Given the description of an element on the screen output the (x, y) to click on. 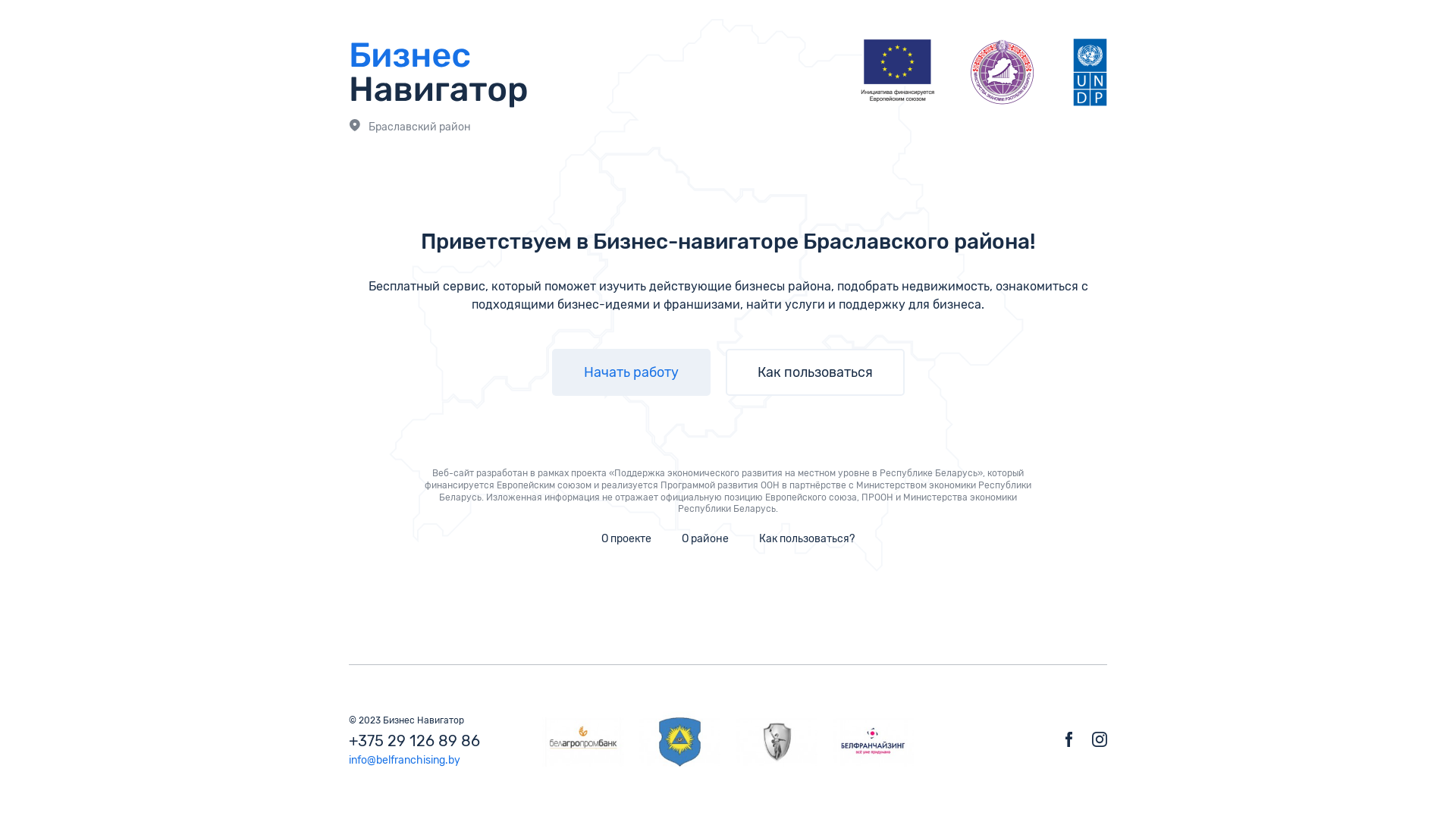
info@belfranchising.by Element type: text (404, 760)
+375 29 126 89 86 Element type: text (414, 740)
